Given the description of an element on the screen output the (x, y) to click on. 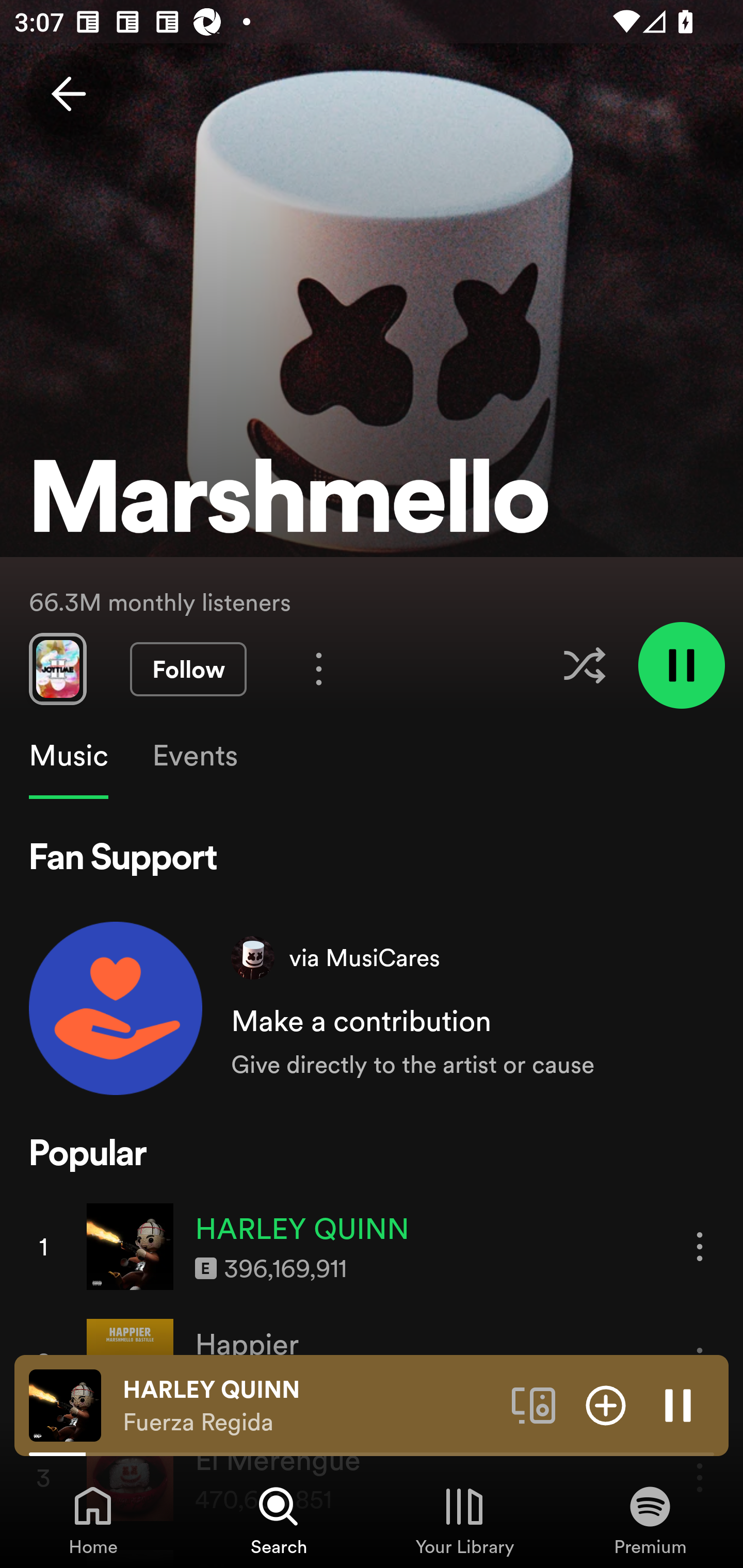
Back (68, 93)
Pause artist (681, 664)
Enable shuffle for this artist (583, 665)
Swipe through previews of tracks from this artist. (57, 668)
More options for artist Marshmello (318, 668)
Follow (188, 669)
Events (194, 755)
More options for song HARLEY QUINN (699, 1246)
HARLEY QUINN Fuerza Regida (309, 1405)
The cover art of the currently playing track (64, 1404)
Connect to a device. Opens the devices menu (533, 1404)
Add item (605, 1404)
Pause (677, 1404)
Home, Tab 1 of 4 Home Home (92, 1519)
Search, Tab 2 of 4 Search Search (278, 1519)
Your Library, Tab 3 of 4 Your Library Your Library (464, 1519)
Premium, Tab 4 of 4 Premium Premium (650, 1519)
